Given the description of an element on the screen output the (x, y) to click on. 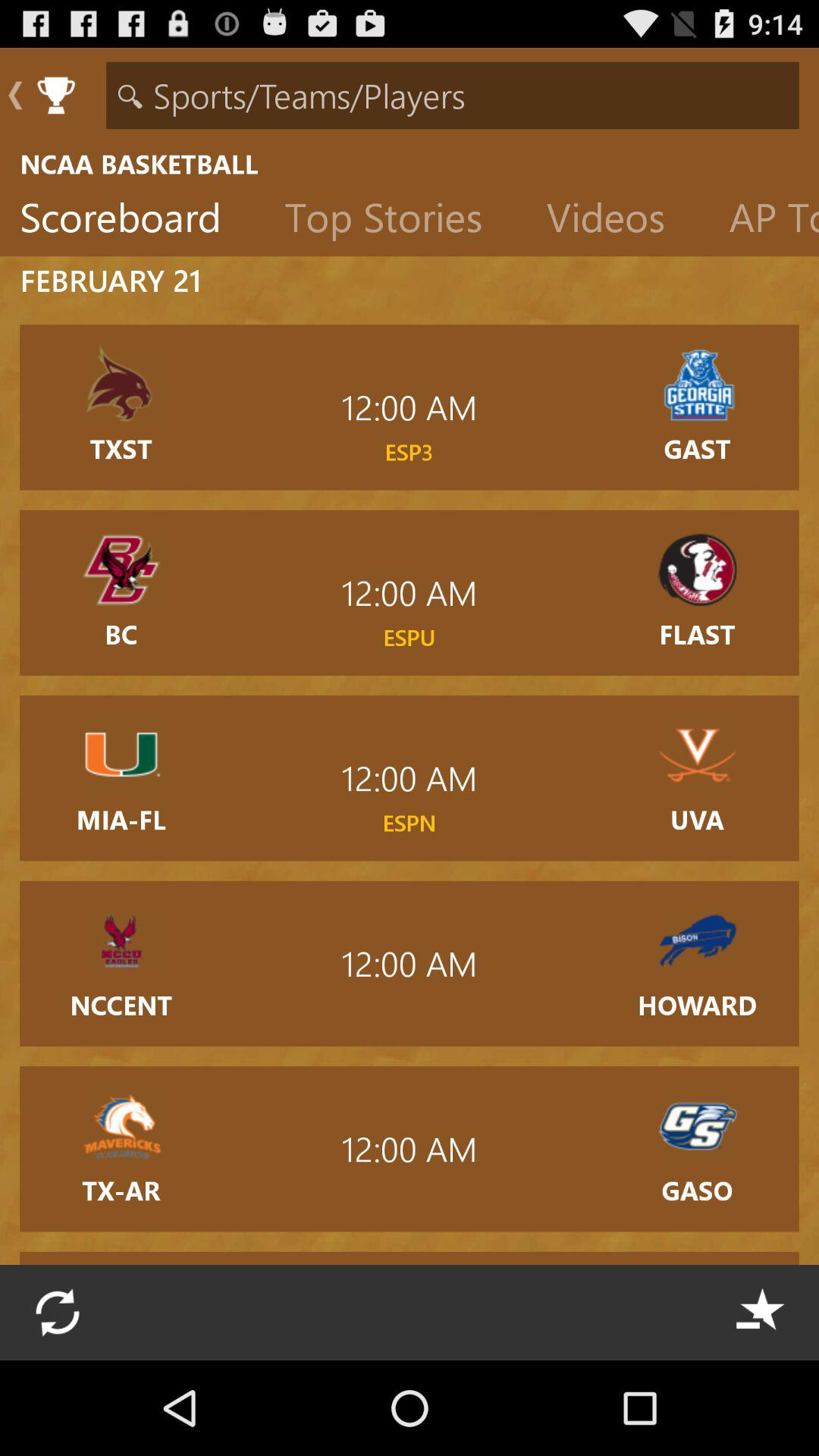
jump until videos item (617, 220)
